Given the description of an element on the screen output the (x, y) to click on. 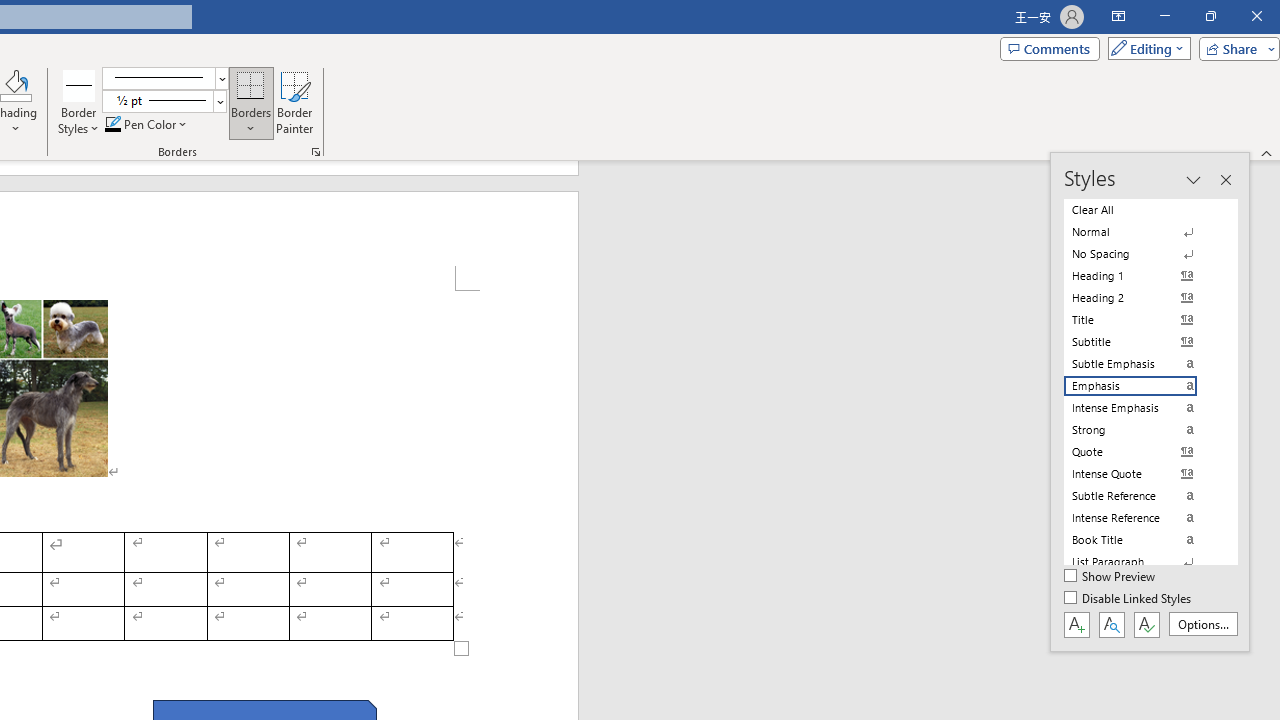
Intense Reference (1142, 517)
Pen Color RGB(0, 0, 0) (113, 124)
Pen Color (147, 124)
Book Title (1142, 539)
Border Painter (294, 102)
